Given the description of an element on the screen output the (x, y) to click on. 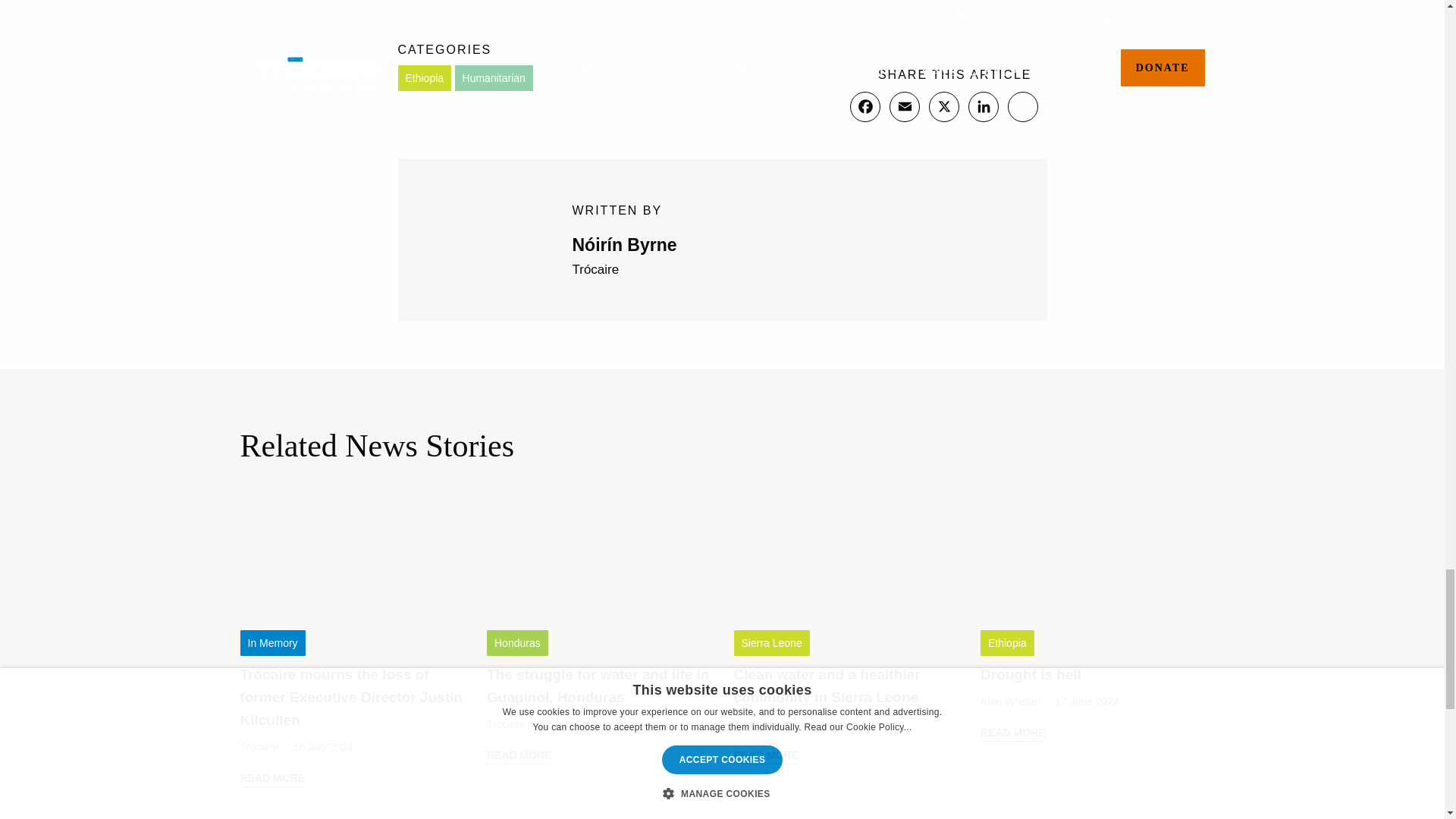
LinkedIn (982, 106)
Instagram (1021, 106)
Email (903, 106)
X (943, 106)
Facebook (863, 106)
